Given the description of an element on the screen output the (x, y) to click on. 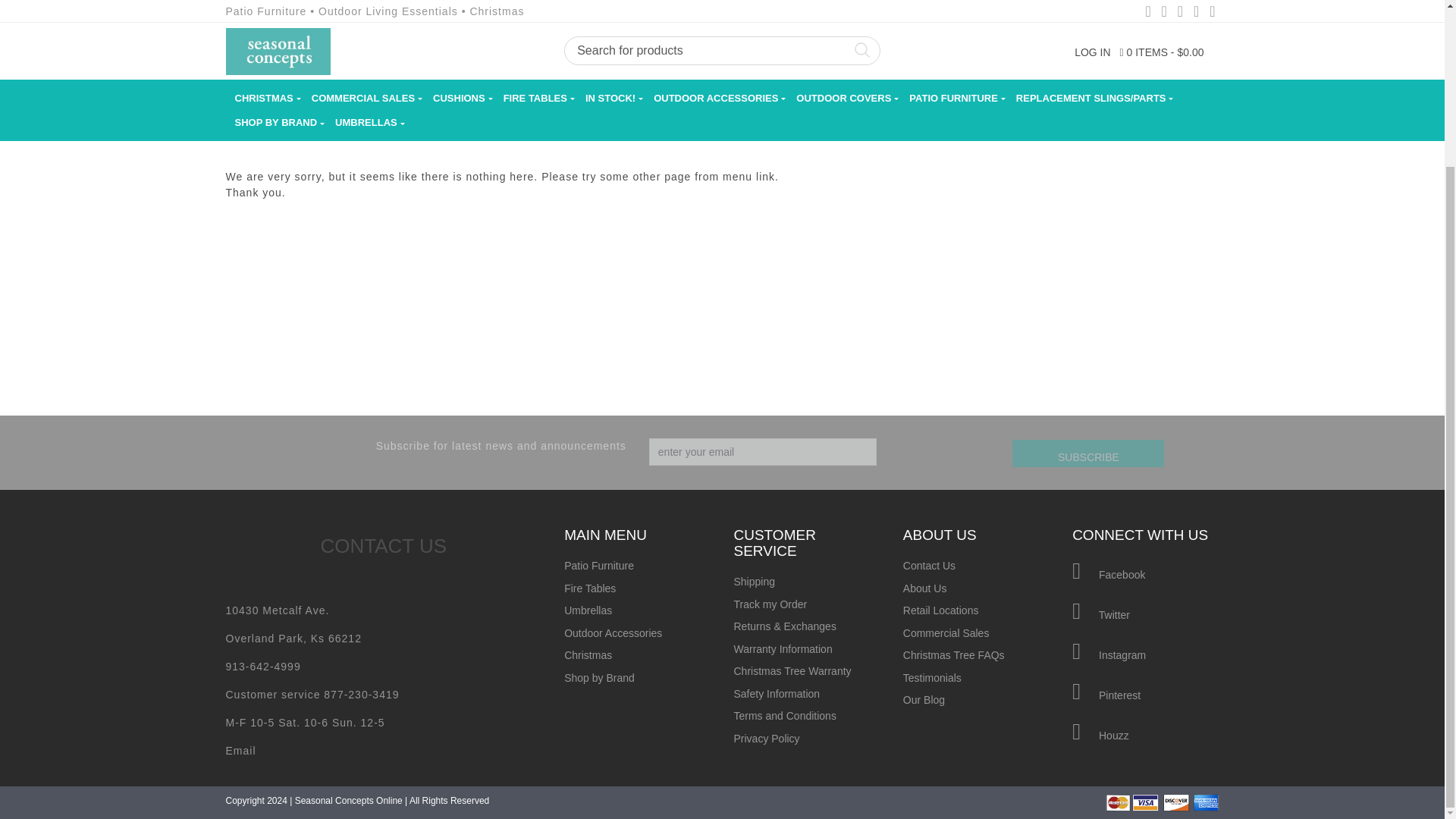
subscribe (1087, 452)
